Given the description of an element on the screen output the (x, y) to click on. 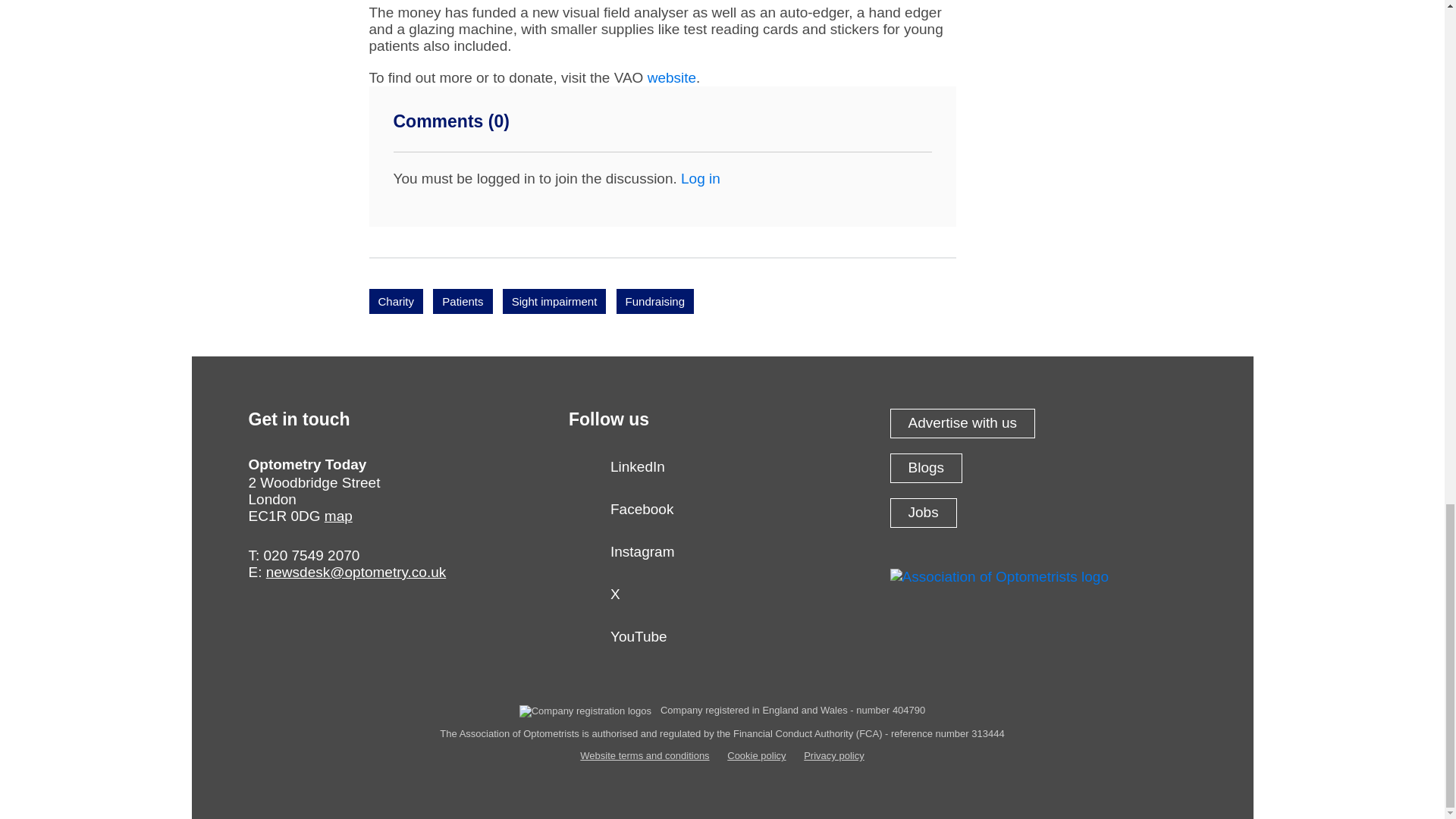
Find us on the map (338, 515)
Connect with OT on LinkedIn (722, 471)
Follow Ot on Facebook (722, 513)
Follow Ot on Twitter (722, 599)
